Given the description of an element on the screen output the (x, y) to click on. 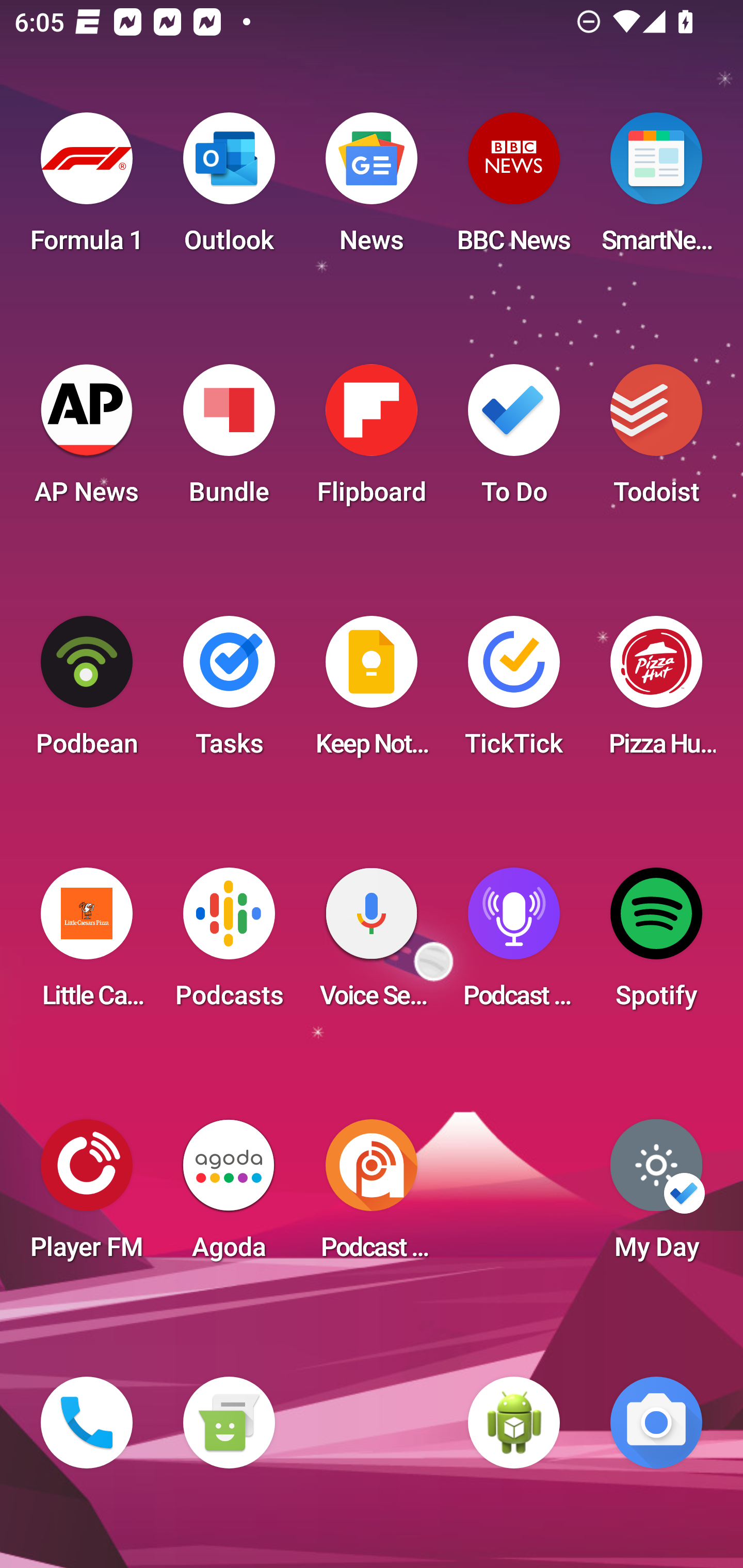
Formula 1 (86, 188)
Outlook (228, 188)
News (371, 188)
BBC News (513, 188)
SmartNews (656, 188)
AP News (86, 440)
Bundle (228, 440)
Flipboard (371, 440)
To Do (513, 440)
Todoist (656, 440)
Podbean (86, 692)
Tasks (228, 692)
Keep Notes (371, 692)
TickTick (513, 692)
Pizza Hut HK & Macau (656, 692)
Little Caesars Pizza (86, 943)
Podcasts (228, 943)
Voice Search (371, 943)
Podcast Player (513, 943)
Spotify (656, 943)
Player FM (86, 1195)
Agoda (228, 1195)
Podcast Addict (371, 1195)
My Day (656, 1195)
Phone (86, 1422)
Messaging (228, 1422)
WebView Browser Tester (513, 1422)
Camera (656, 1422)
